Given the description of an element on the screen output the (x, y) to click on. 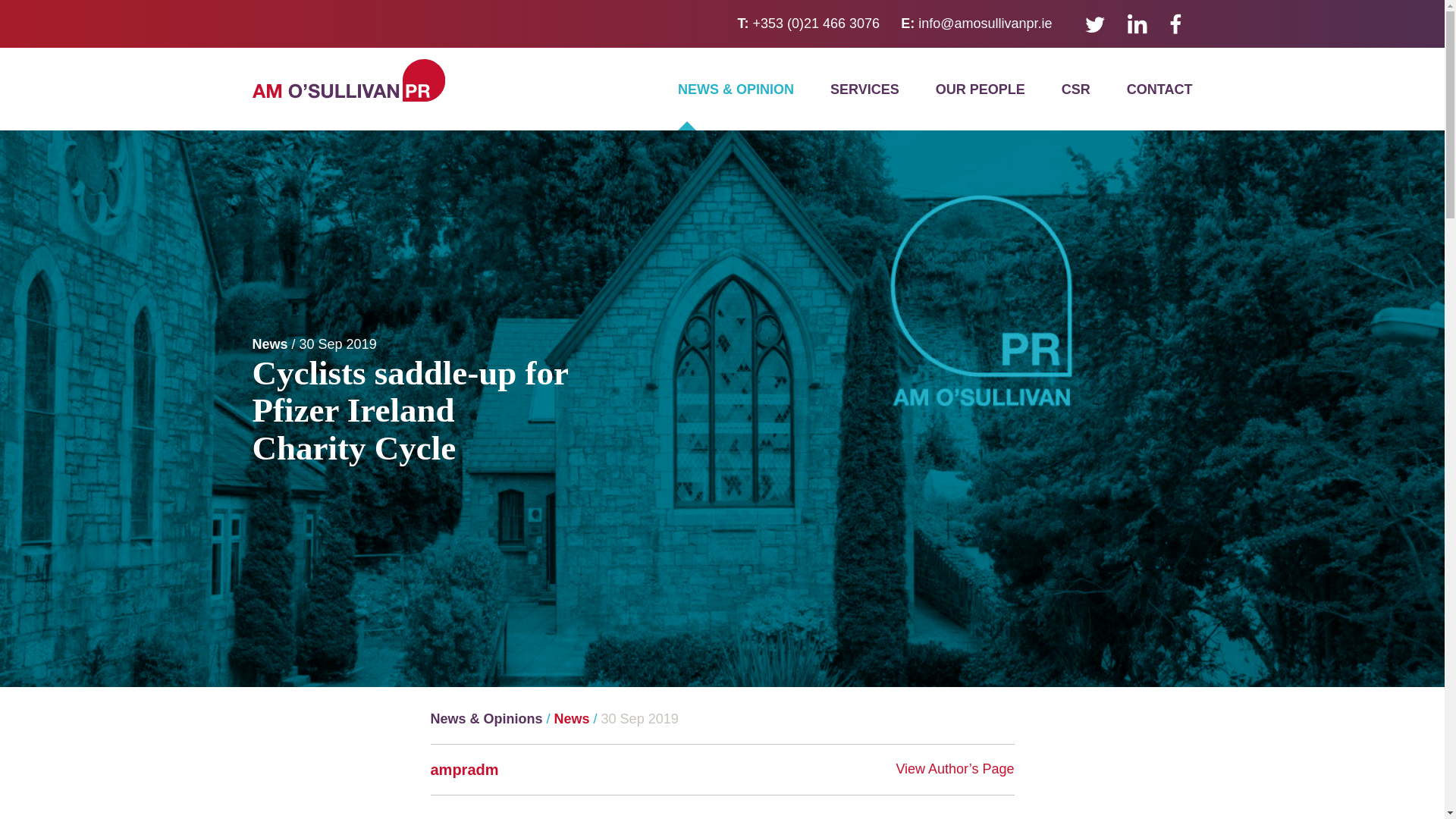
ampradm (464, 769)
CONTACT (1159, 89)
Posts by ampradm (464, 769)
News (571, 718)
SERVICES (864, 89)
CSR (1075, 89)
OUR PEOPLE (980, 89)
